Given the description of an element on the screen output the (x, y) to click on. 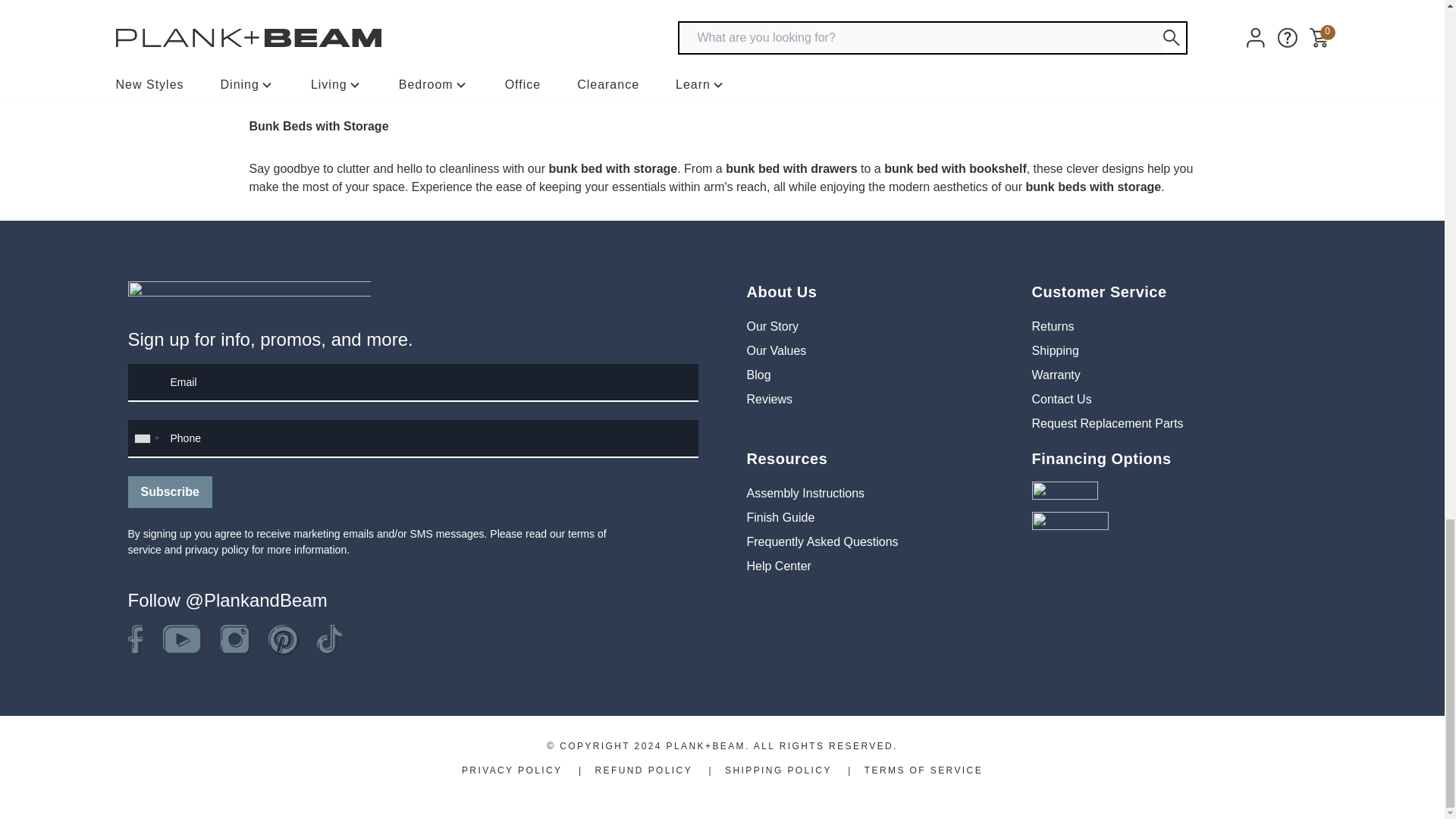
Contact Us (1060, 399)
Returns (1052, 326)
Blog (757, 374)
Warranty (1055, 374)
Instagram (233, 639)
terms of service (366, 541)
Request Replacement Parts (1106, 422)
Shipping (1054, 350)
Reviews (768, 399)
Our Story (771, 326)
Youtube (181, 639)
privacy policy (216, 549)
Our Values (775, 350)
Subscribe (169, 491)
Tiktok (330, 639)
